Given the description of an element on the screen output the (x, y) to click on. 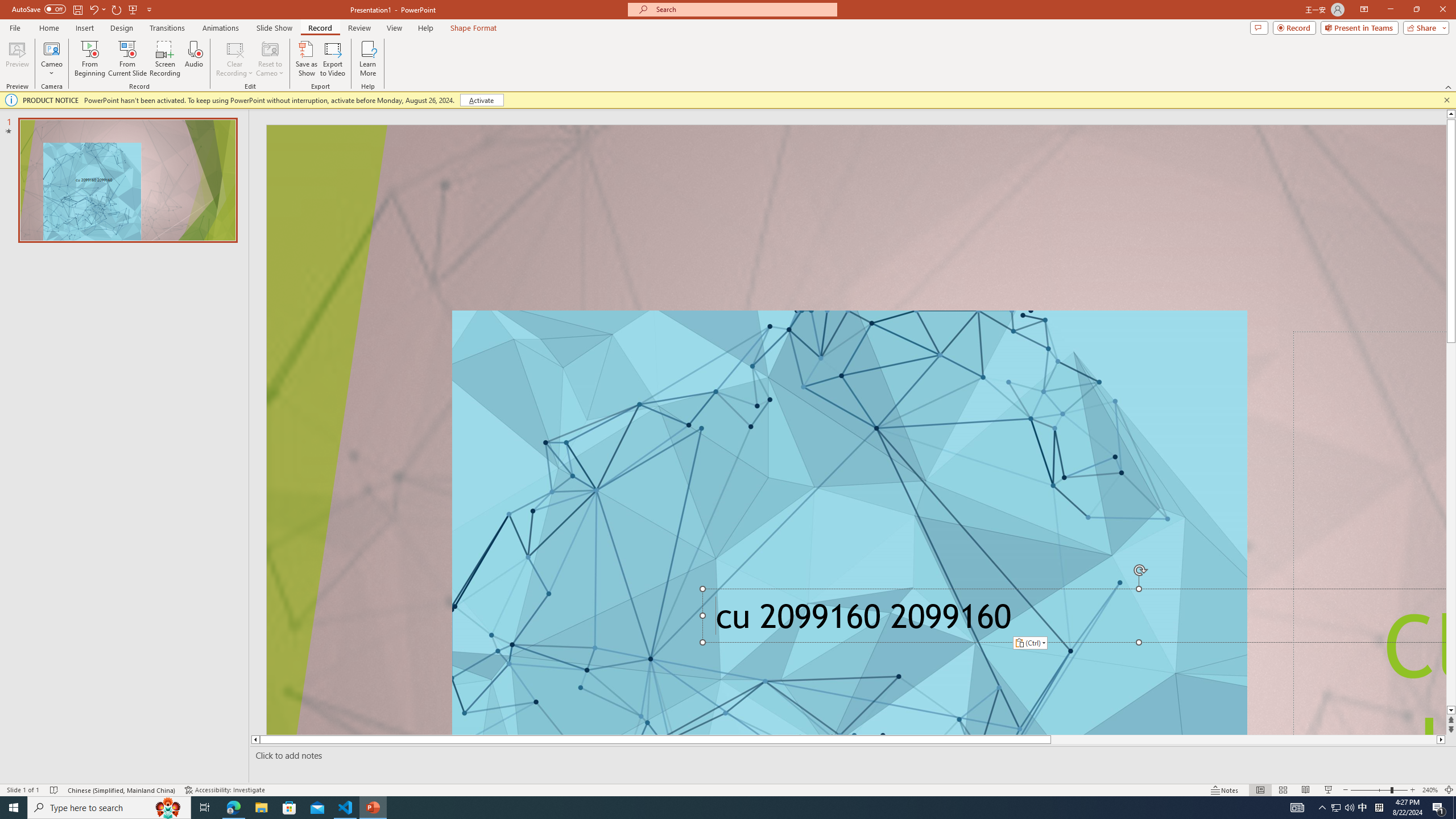
TextBox 61 (1070, 620)
Close this message (1446, 99)
